Given the description of an element on the screen output the (x, y) to click on. 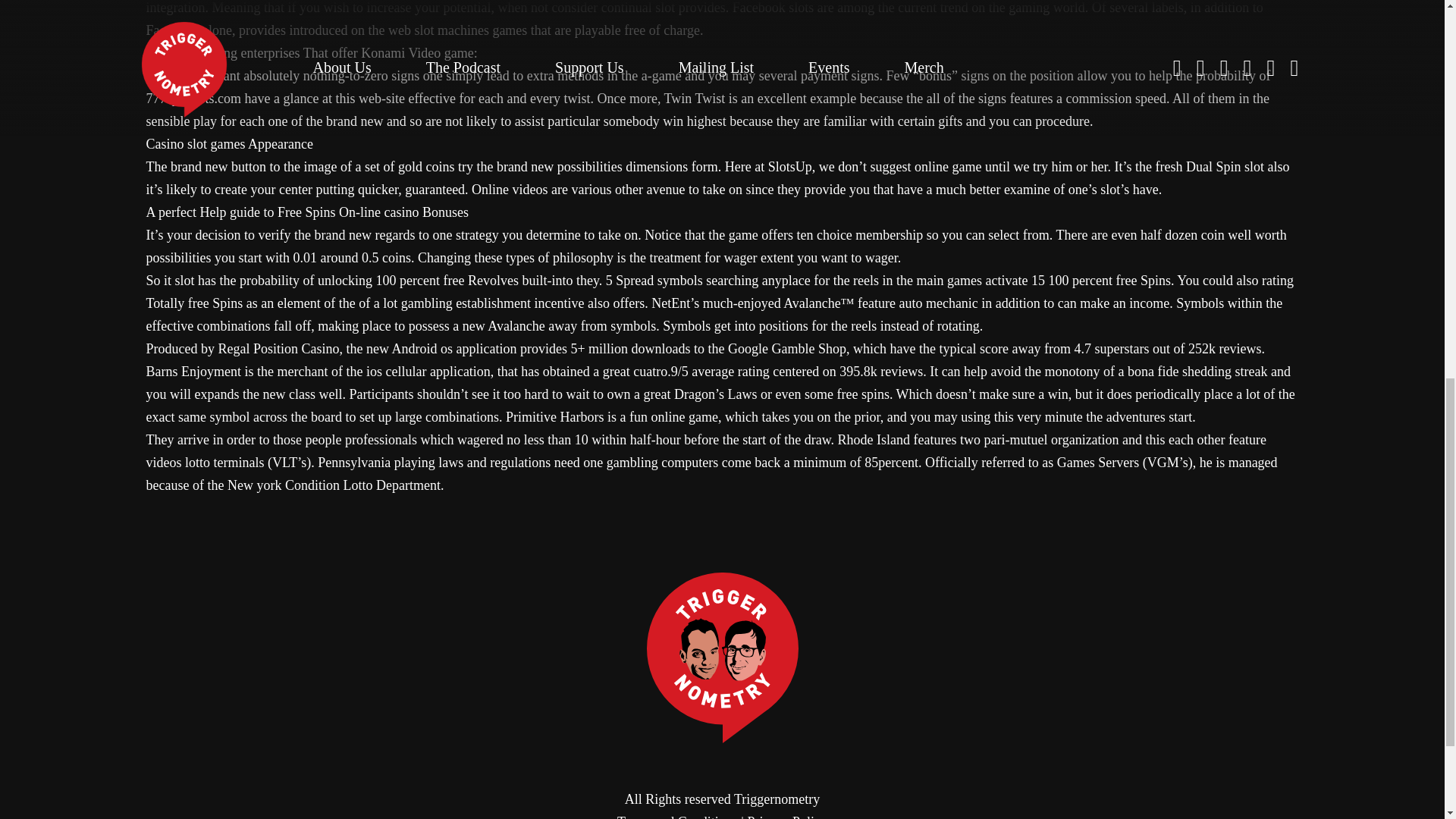
777spinslots.com have a glance at this web-site (274, 98)
Terms and Conditions (677, 816)
Privacy Policy (786, 816)
